Given the description of an element on the screen output the (x, y) to click on. 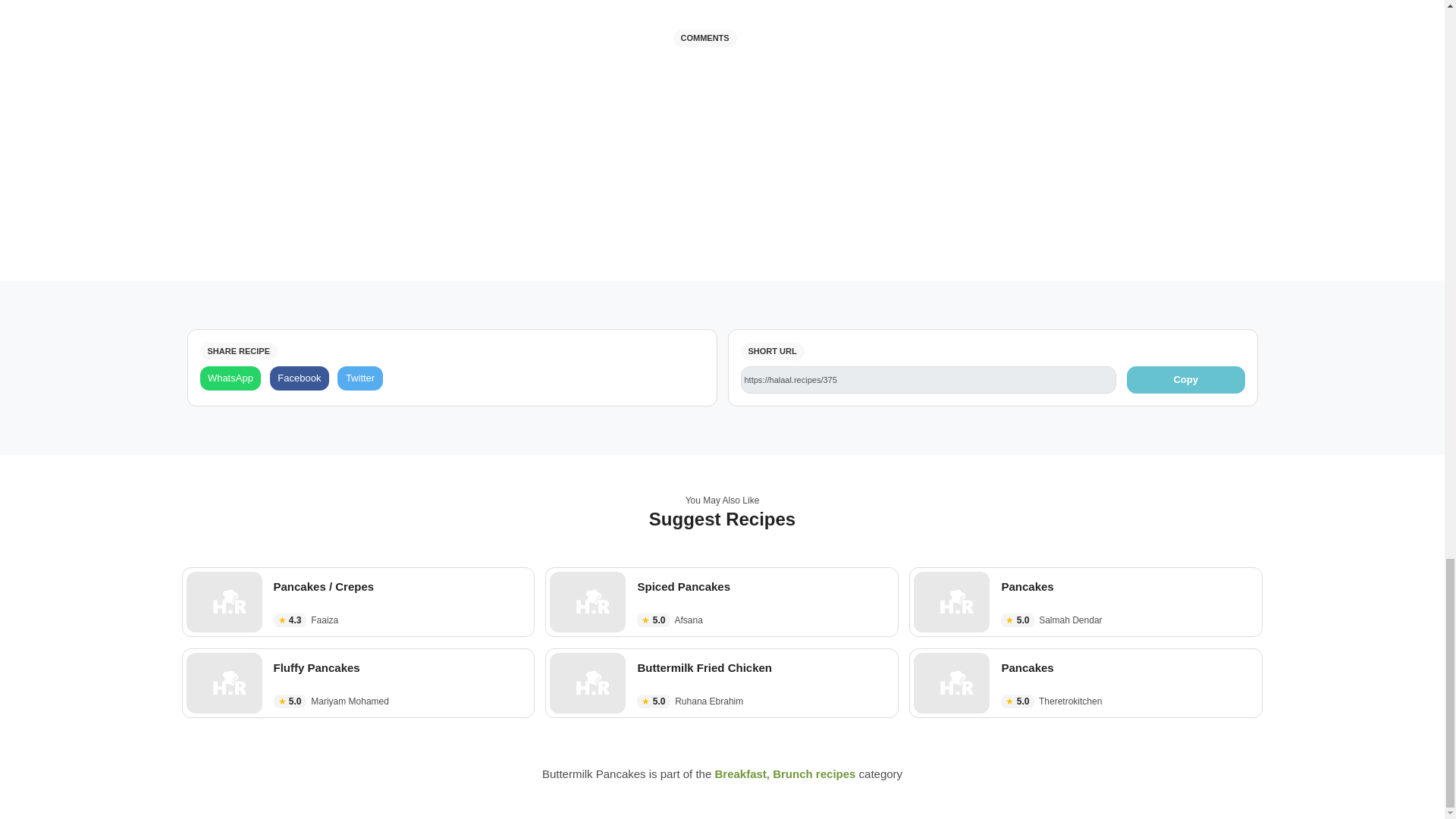
Breakfast, Brunch recipes (785, 773)
WhatsApp (231, 378)
Copy (1185, 379)
Facebook (299, 378)
Twitter (359, 378)
